Given the description of an element on the screen output the (x, y) to click on. 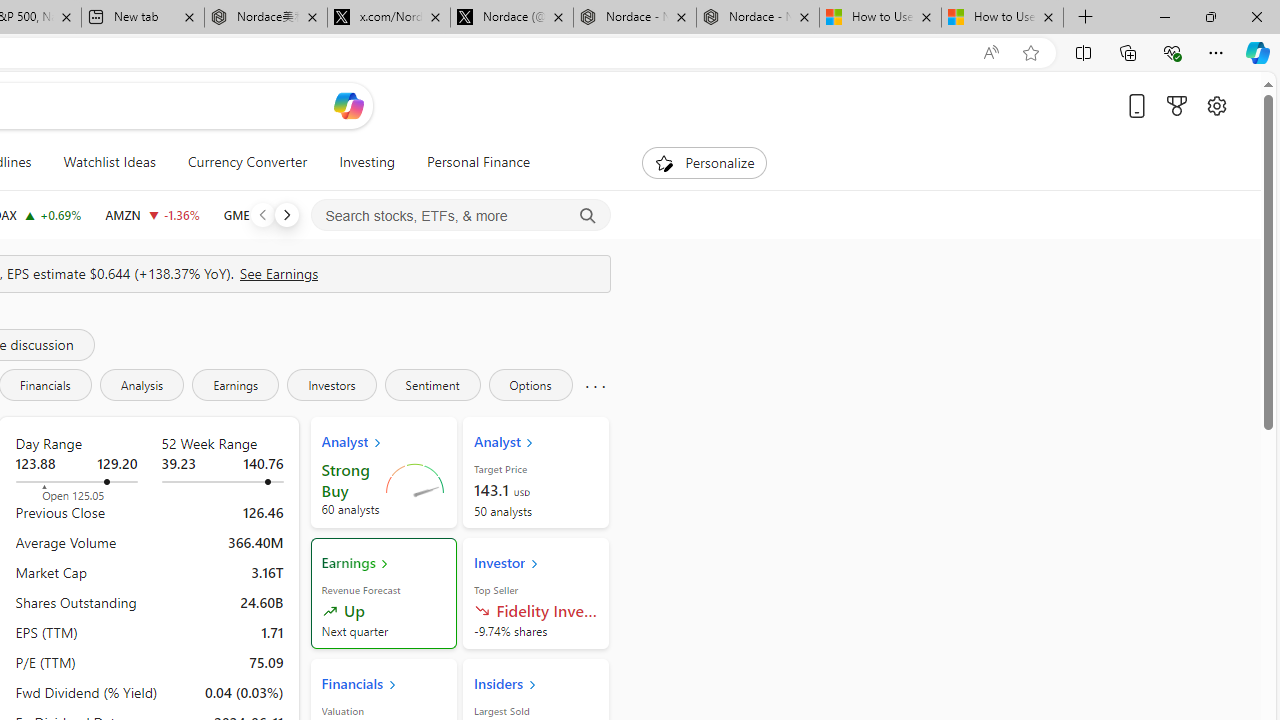
How to Use a Monitor With Your Closed Laptop (1002, 17)
Sentiment (432, 384)
Personalize (703, 162)
Personal Finance (469, 162)
Open Copilot (347, 105)
Personal Finance (478, 162)
To get missing image descriptions, open the context menu. (664, 162)
Microsoft rewards (1176, 105)
Previous (262, 214)
Investing (367, 162)
